Given the description of an element on the screen output the (x, y) to click on. 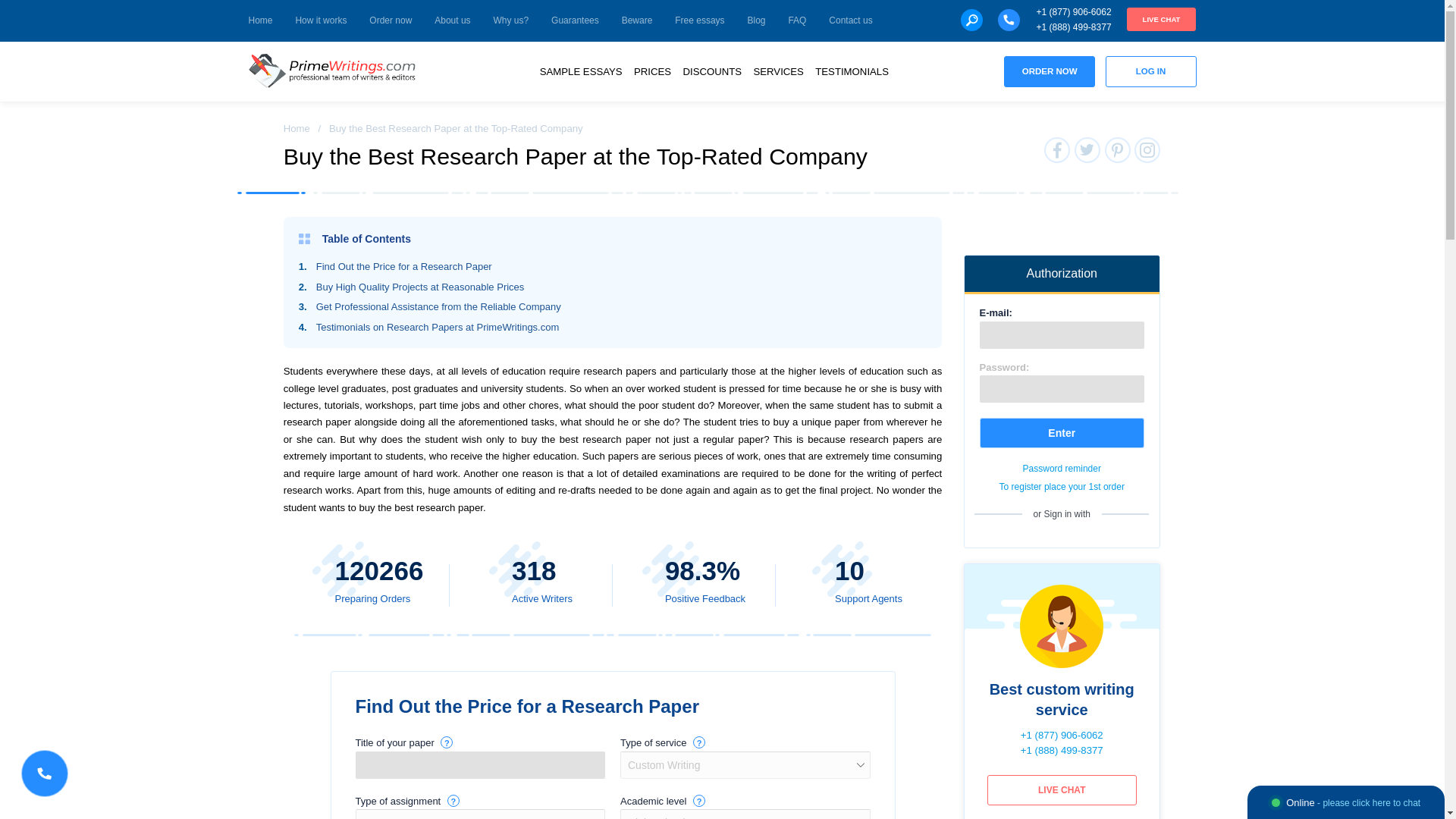
Home (296, 128)
Home (260, 20)
SAMPLE ESSAYS (581, 71)
Contact us (850, 20)
PRICES (652, 71)
Blog (756, 20)
How it works (320, 20)
Free essays (699, 20)
primewritings.com (335, 70)
Beware (636, 20)
Enter (1061, 432)
SERVICES (777, 71)
LOG IN (1150, 71)
Enter (1061, 432)
DISCOUNTS (711, 71)
